Given the description of an element on the screen output the (x, y) to click on. 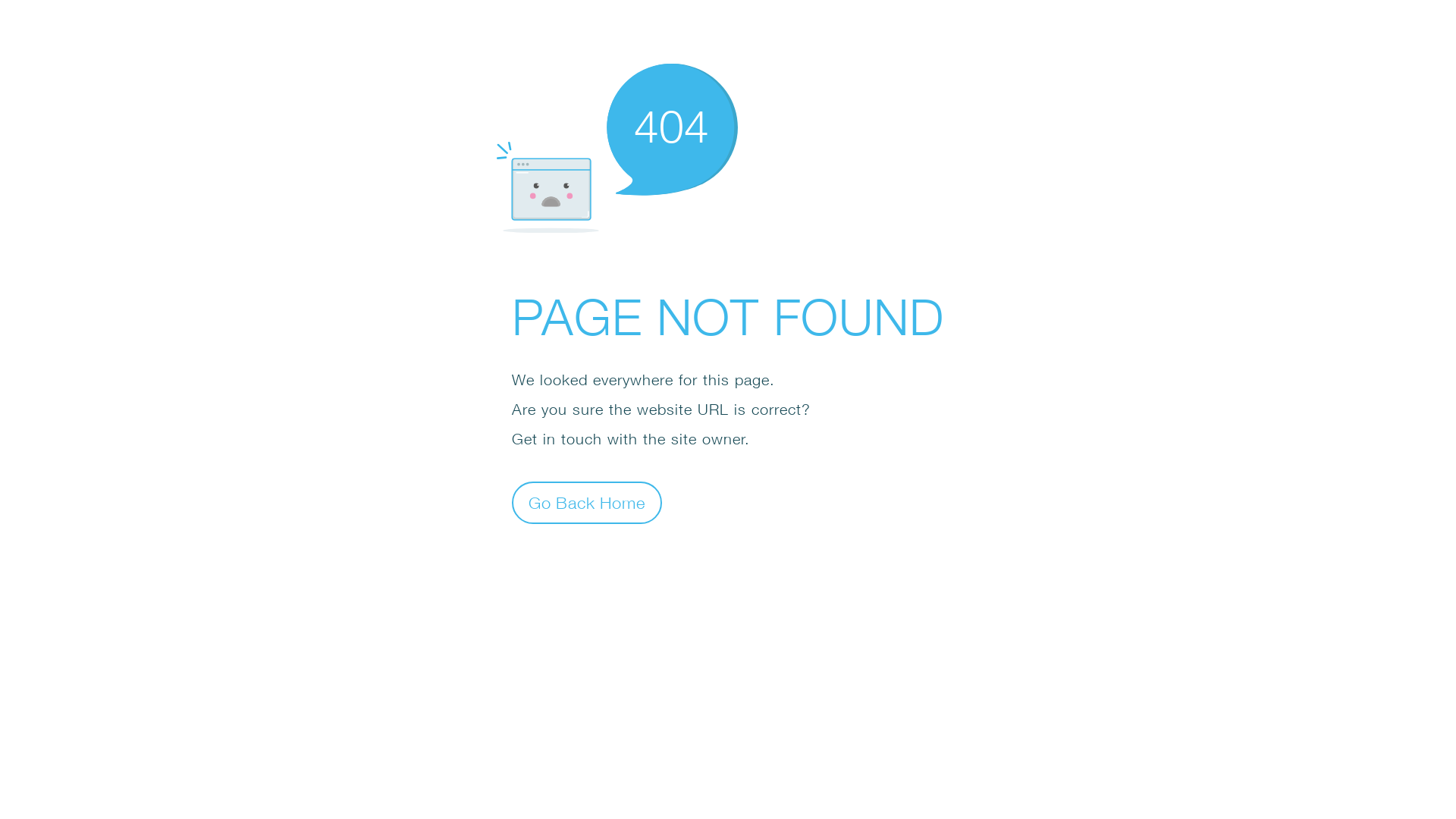
Go Back Home Element type: text (586, 502)
